Given the description of an element on the screen output the (x, y) to click on. 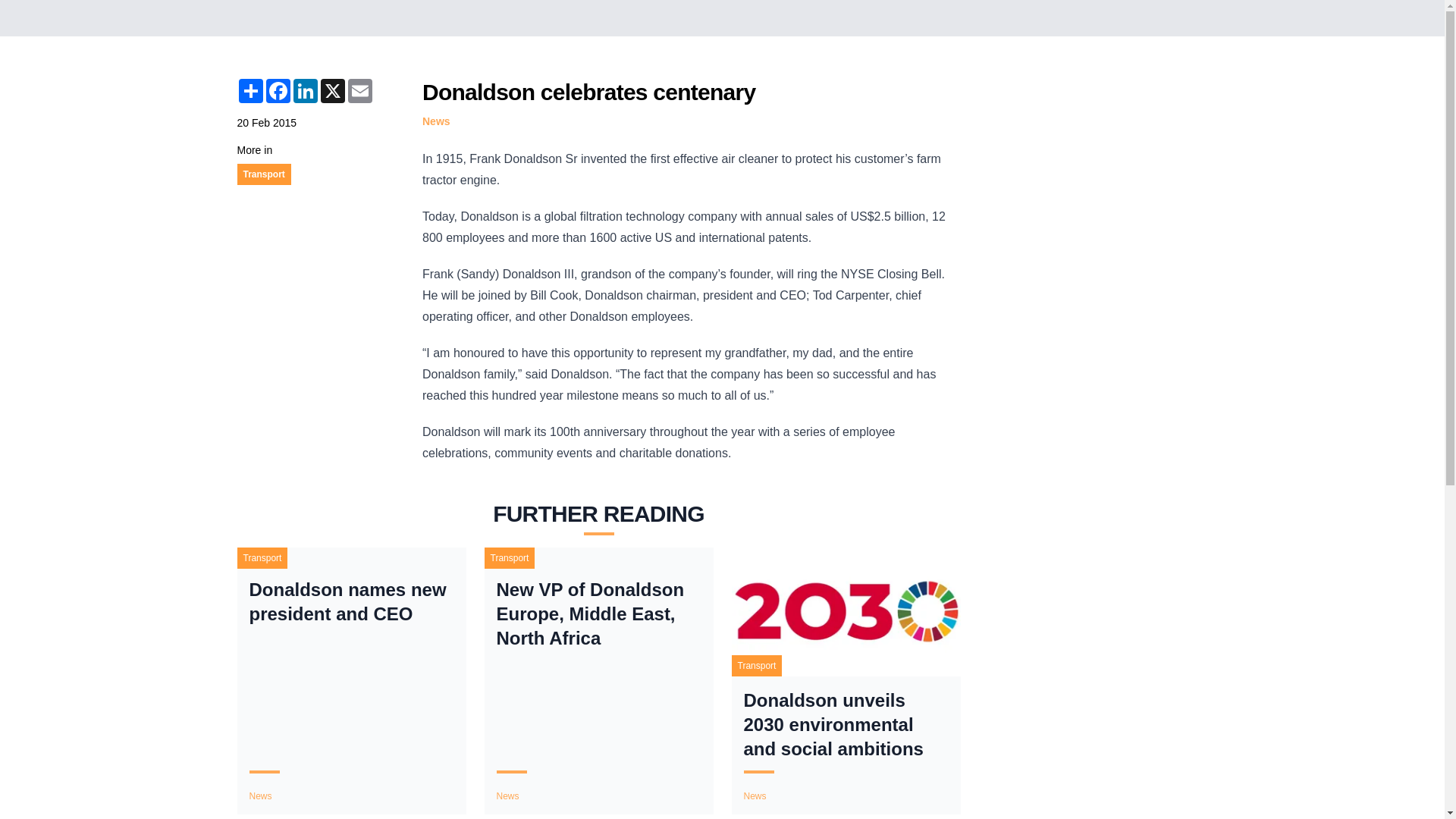
Donaldson names new president and CEO (350, 602)
Facebook (277, 90)
X (332, 90)
Email (359, 90)
News (435, 121)
Transport (263, 174)
LinkedIn (304, 90)
